Given the description of an element on the screen output the (x, y) to click on. 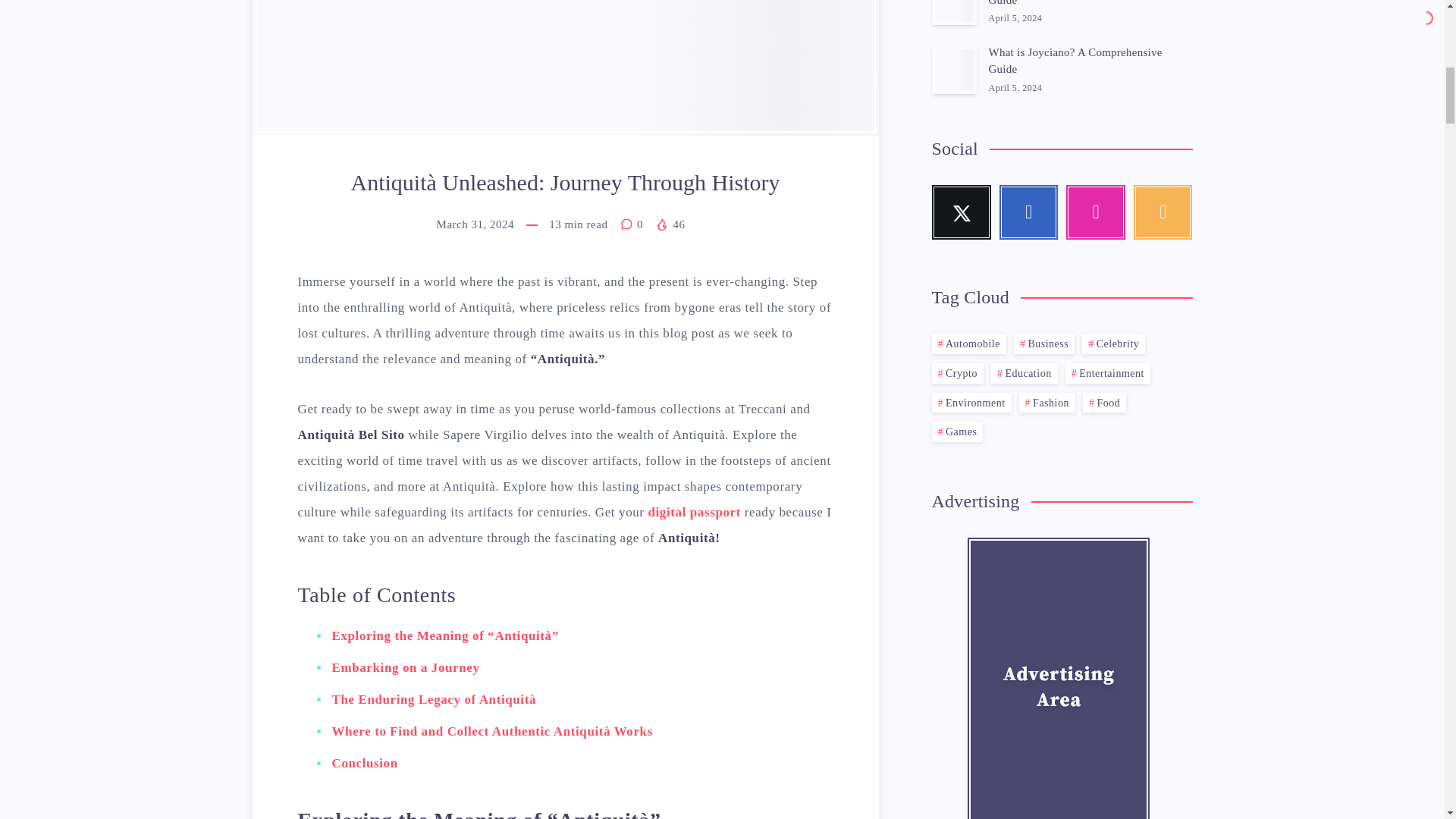
0 Comments (633, 224)
digital passport (693, 512)
46 Views (669, 224)
0 (633, 224)
Conclusion (364, 762)
Embarking on a Journey (405, 667)
